Given the description of an element on the screen output the (x, y) to click on. 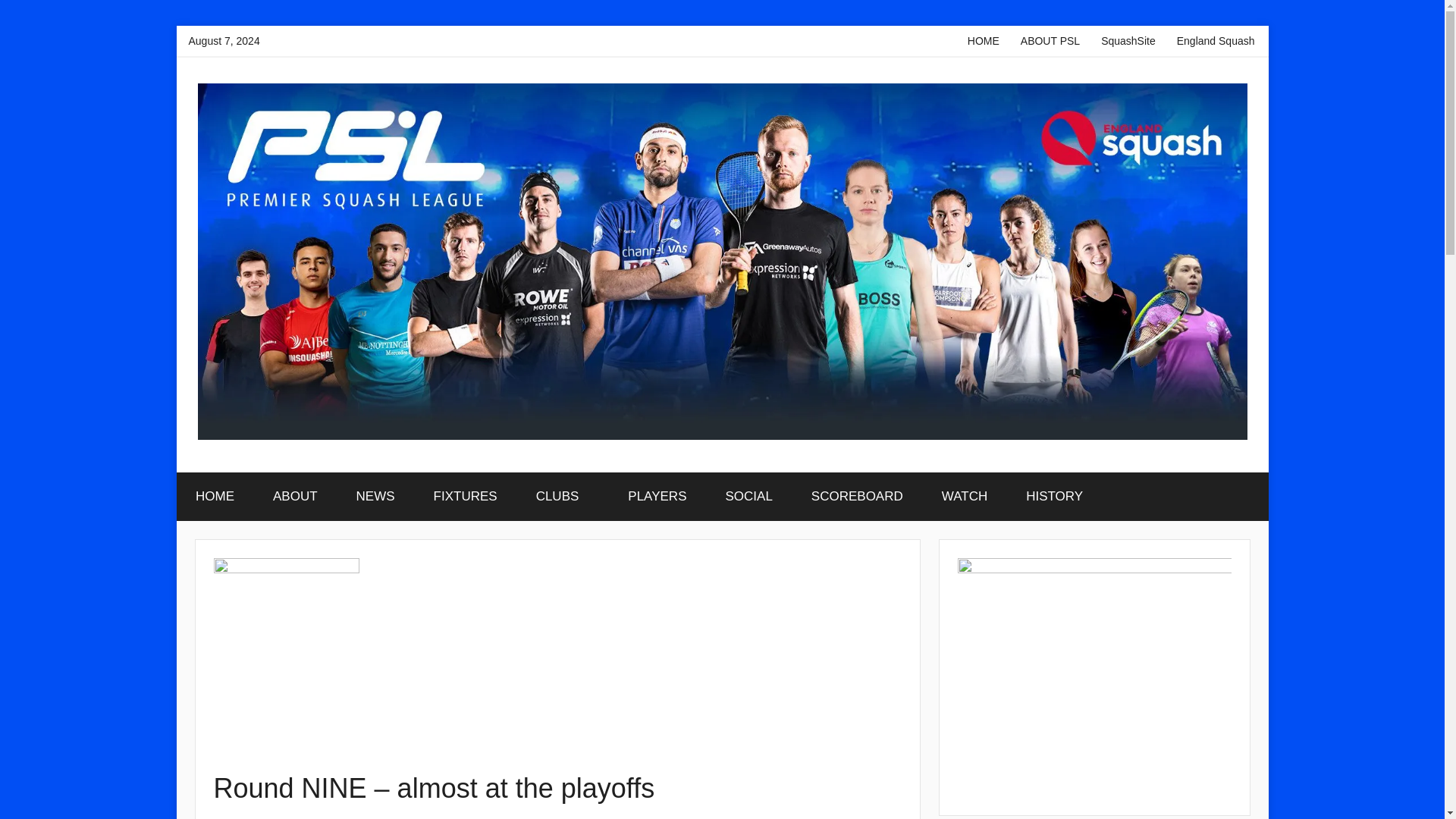
SCOREBOARD (856, 496)
HISTORY (1060, 496)
WATCH (963, 496)
CLUBS (562, 496)
FIXTURES (464, 496)
HOME (983, 40)
SquashSite (1128, 40)
NEWS (374, 496)
ABOUT PSL (1050, 40)
